Given the description of an element on the screen output the (x, y) to click on. 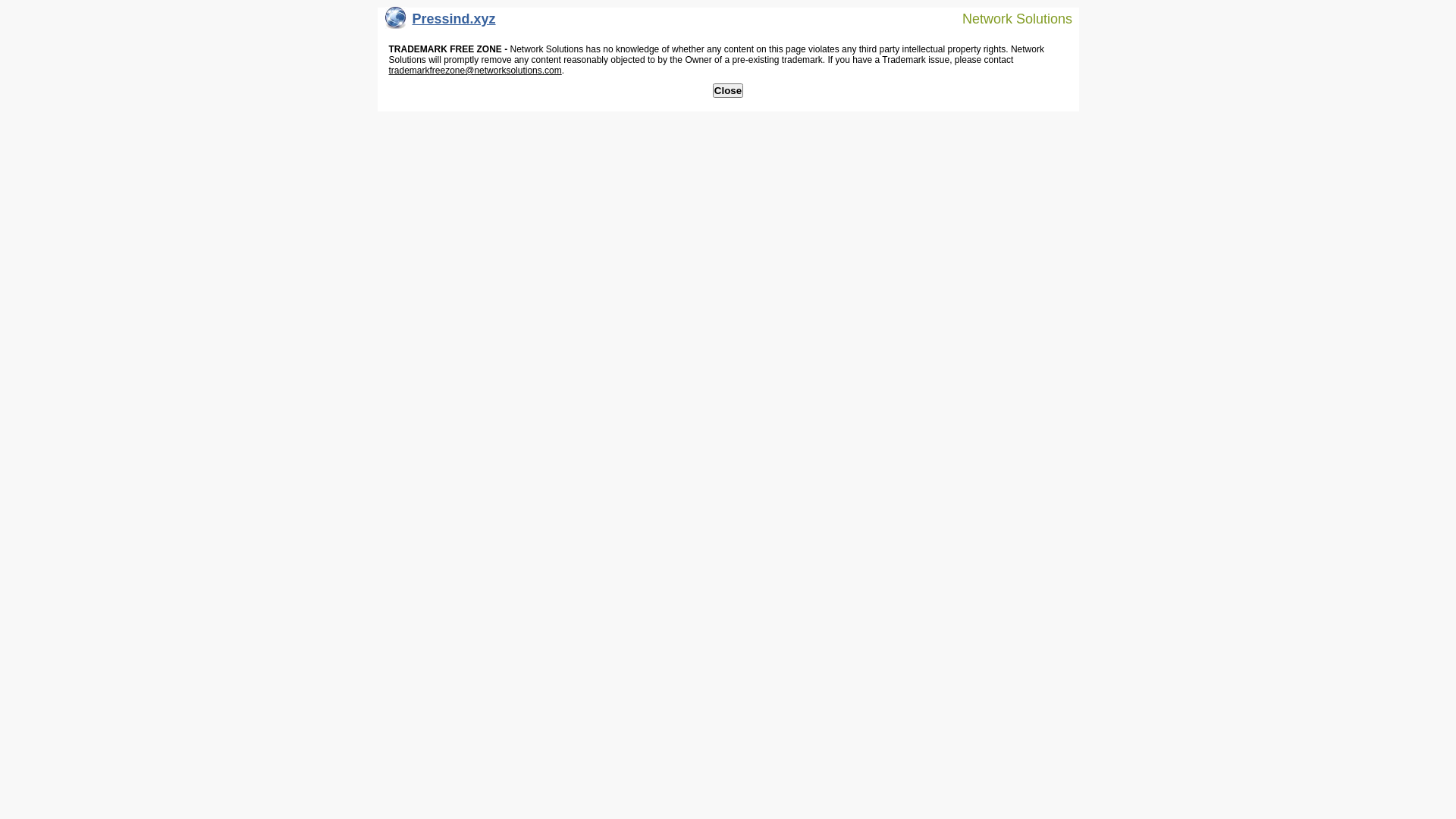
trademarkfreezone@networksolutions.com Element type: text (474, 70)
Pressind.xyz Element type: text (440, 21)
Network Solutions Element type: text (1007, 17)
Close Element type: text (727, 90)
